Given the description of an element on the screen output the (x, y) to click on. 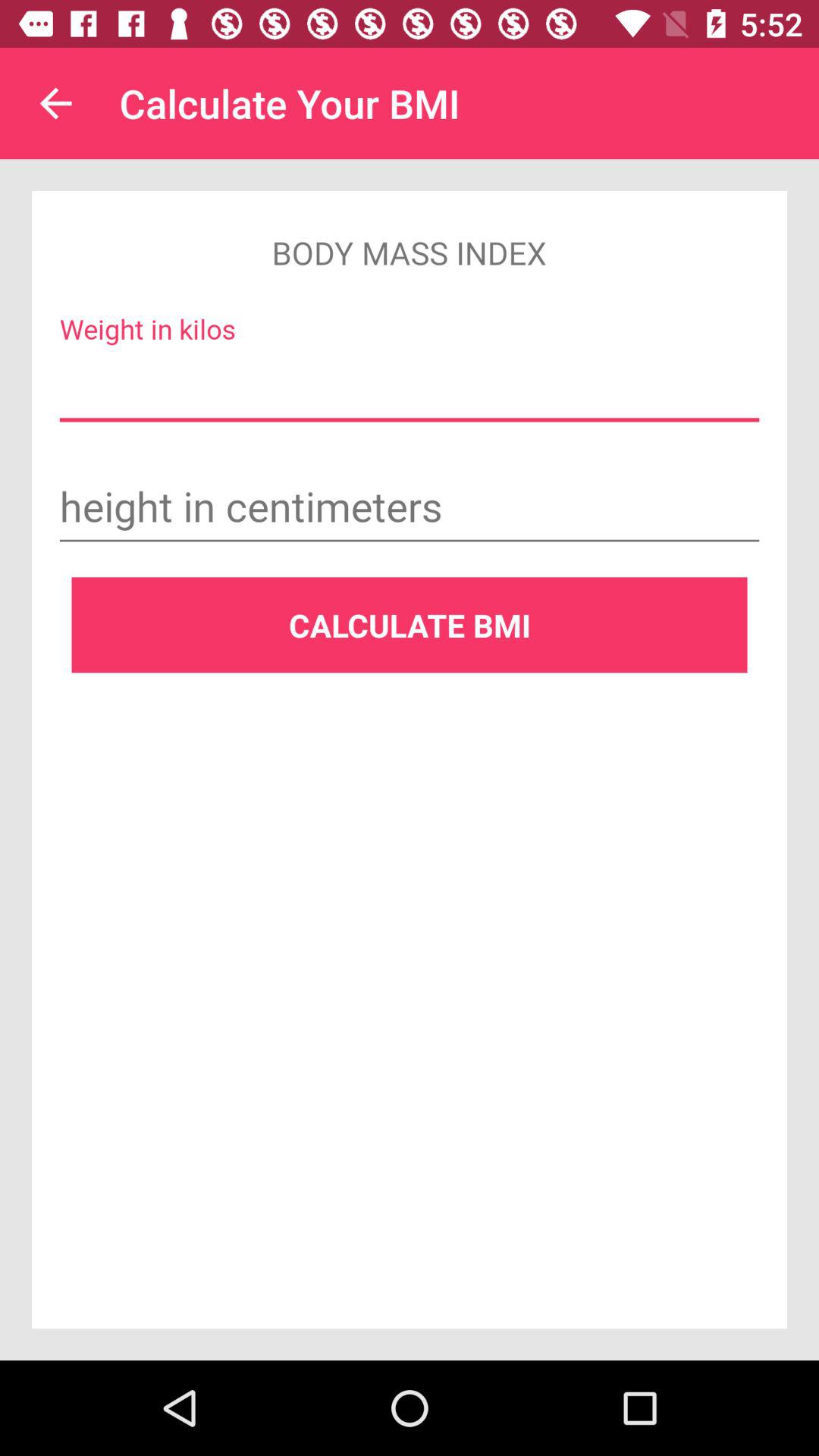
write a weight in kilos (409, 386)
